Given the description of an element on the screen output the (x, y) to click on. 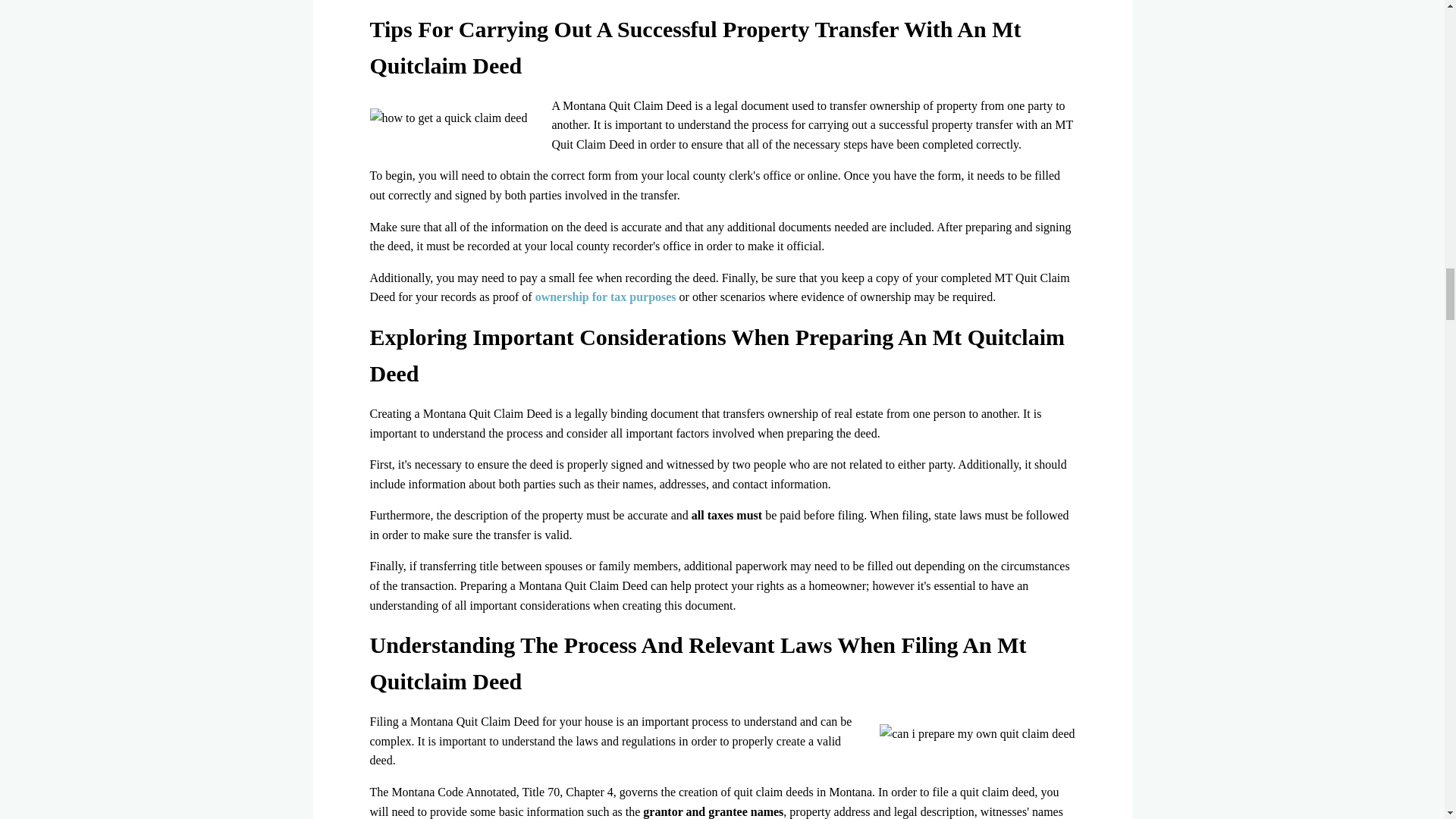
ownership for tax purposes (606, 296)
